Given the description of an element on the screen output the (x, y) to click on. 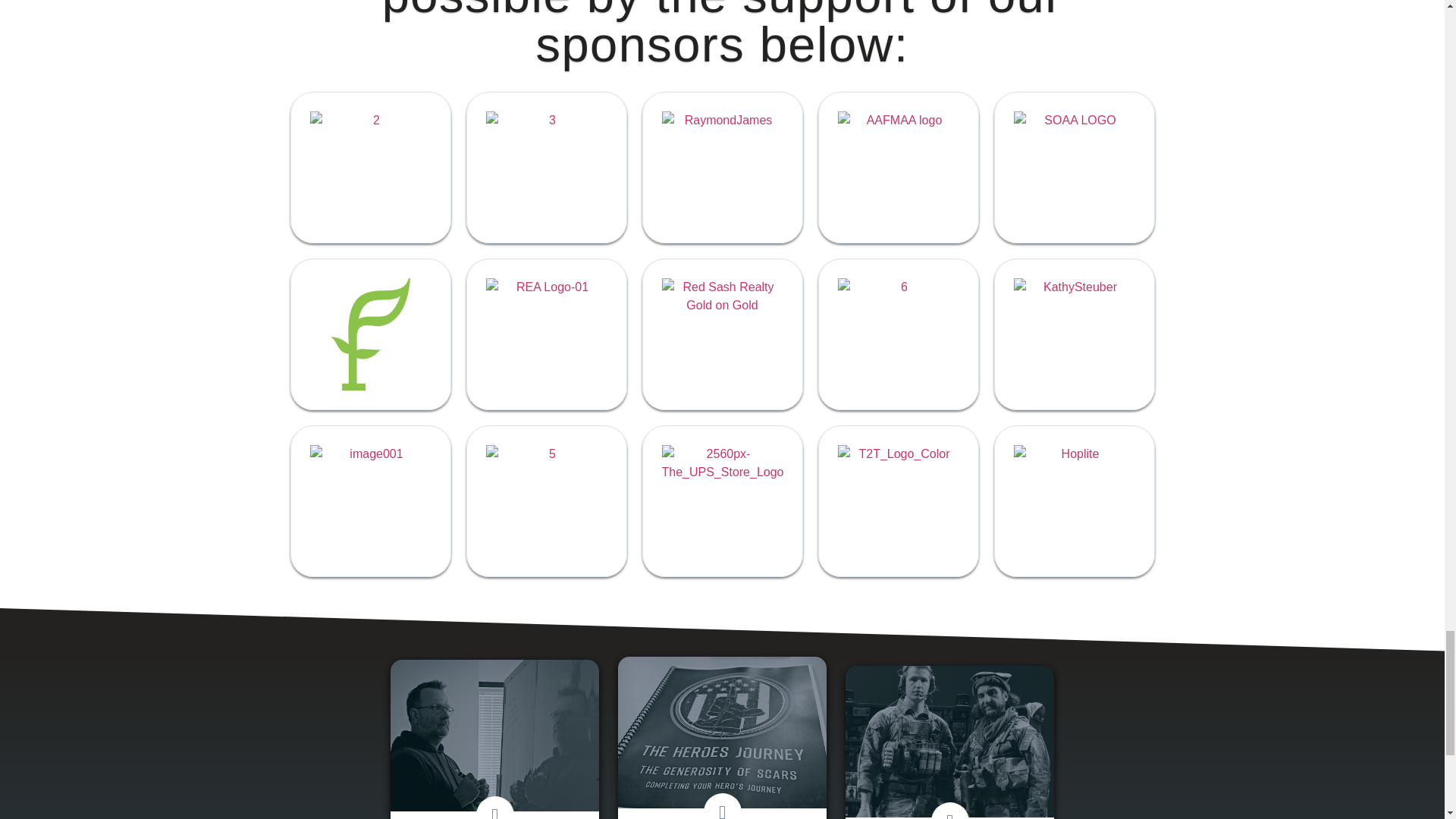
RJ Valor (722, 167)
PCS Pools (370, 500)
Red Sash Realty (722, 334)
T2T (898, 500)
Kathy Steuber (1074, 334)
Reemployability (546, 334)
NVBDC (898, 334)
So Fresh (370, 334)
AAFMAA (898, 167)
Hoplite (1074, 500)
Cook Realty (546, 500)
SOAA (1074, 167)
UPS store (722, 500)
